Given the description of an element on the screen output the (x, y) to click on. 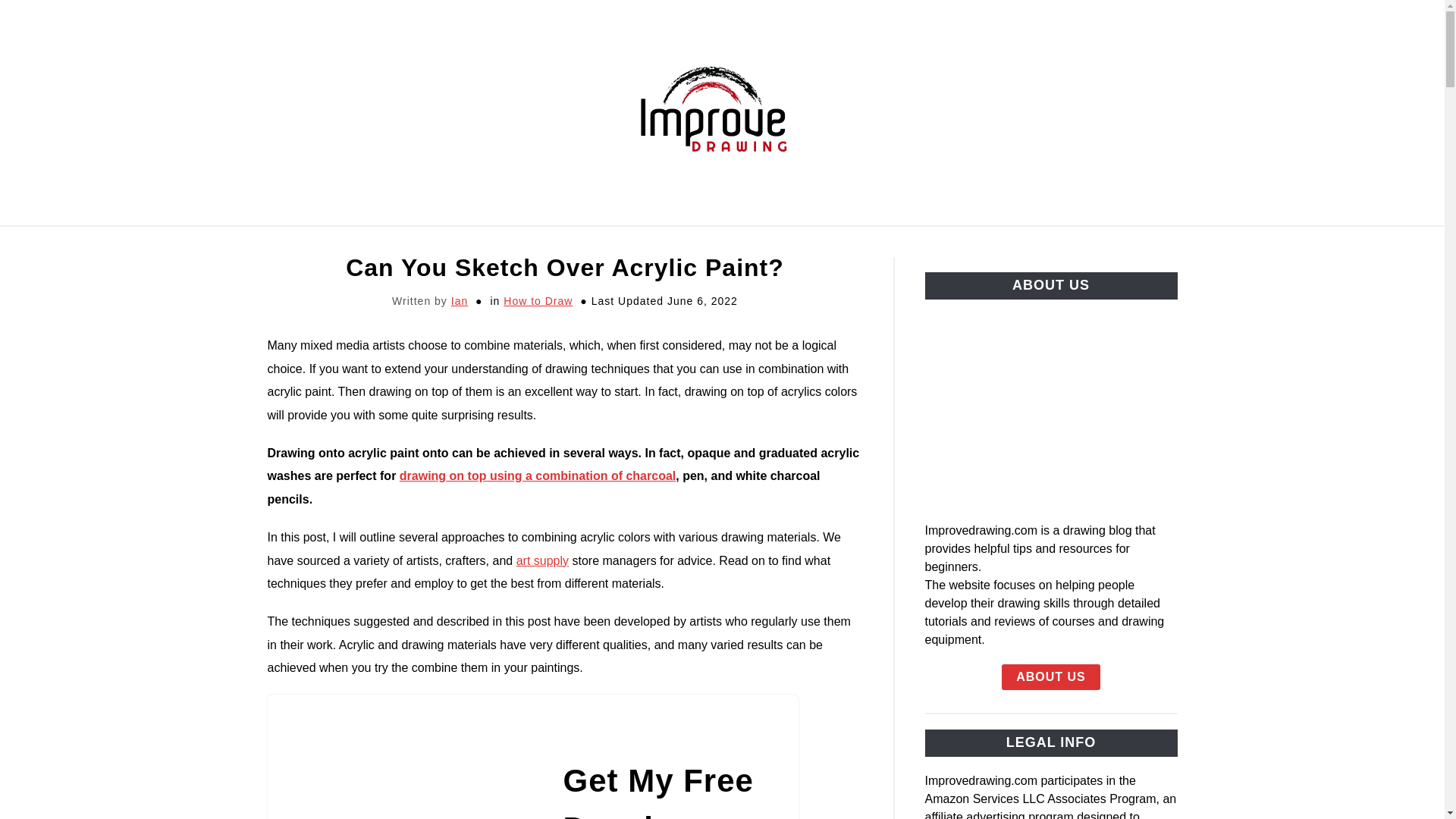
drawing on top using a combination of charcoal (536, 475)
DRAWING EQUIPMENT (404, 243)
HOW TO DRAW (560, 243)
art supply (542, 560)
Different Types of Art Supplies (542, 560)
STILL LIFE DRAWING (1044, 243)
Ian (459, 300)
DRAWING COURSES (709, 243)
How to Draw (537, 300)
PORTRAIT DRAWING (876, 243)
Search (1203, 112)
